Given the description of an element on the screen output the (x, y) to click on. 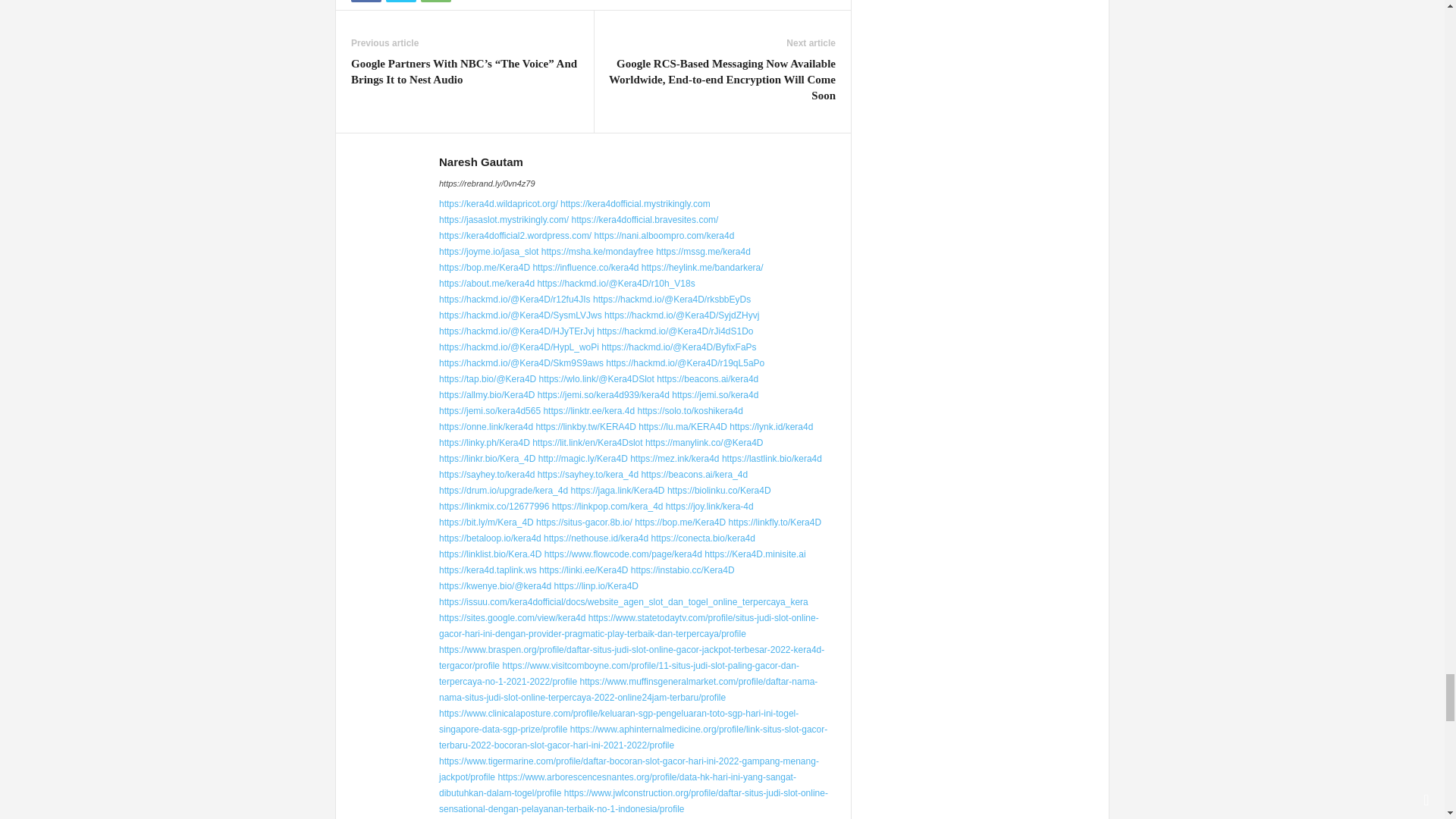
Twitter (400, 1)
Facebook (365, 1)
WhatsApp (435, 1)
